Given the description of an element on the screen output the (x, y) to click on. 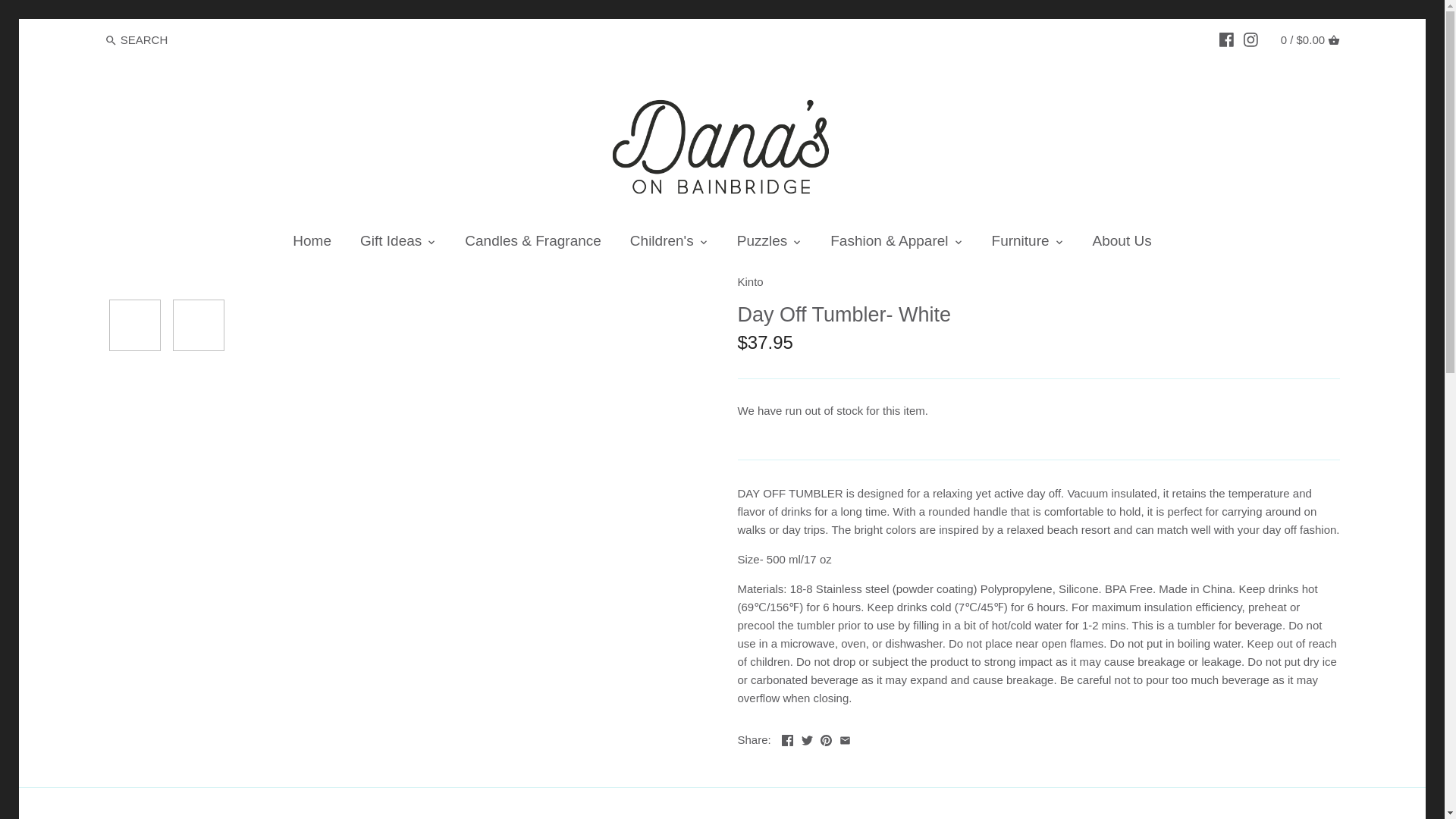
Facebook (787, 738)
Children's (661, 244)
Share using email (845, 738)
FACEBOOK (1226, 38)
Twitter (807, 738)
Facebook (1226, 38)
Home (312, 244)
CART (1333, 39)
INSTAGRAM (1250, 38)
FACEBOOK (1226, 39)
Furniture (1020, 244)
Share on Facebook (787, 738)
Puzzles (762, 244)
About Us (1122, 244)
Kinto (749, 281)
